Given the description of an element on the screen output the (x, y) to click on. 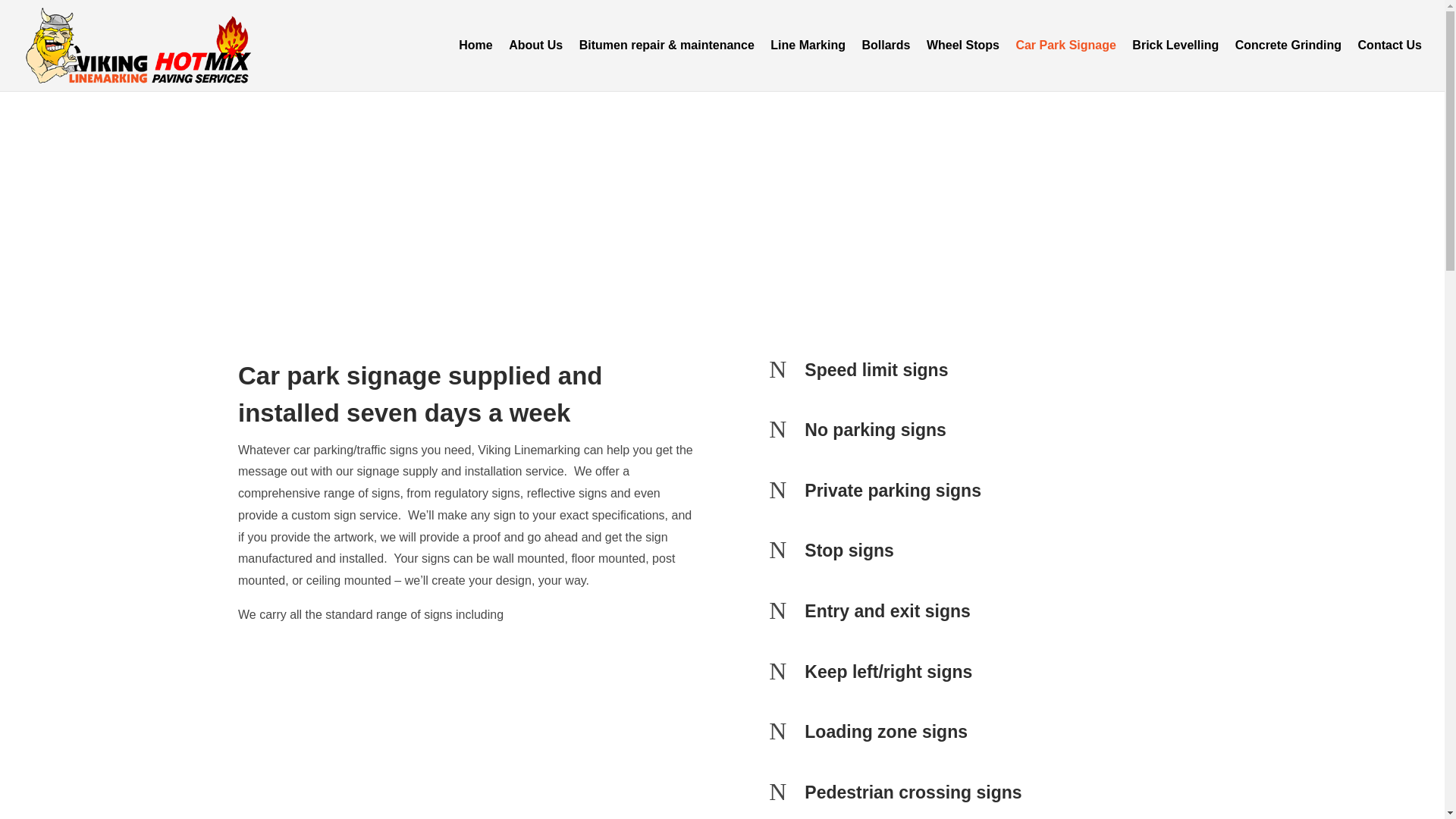
Car Park Signage (1065, 65)
Contact Us (1390, 65)
Concrete Grinding (1287, 65)
Bollards (885, 65)
Brick Levelling (1175, 65)
Line Marking (807, 65)
Wheel Stops (962, 65)
About Us (535, 65)
Home (475, 65)
